Given the description of an element on the screen output the (x, y) to click on. 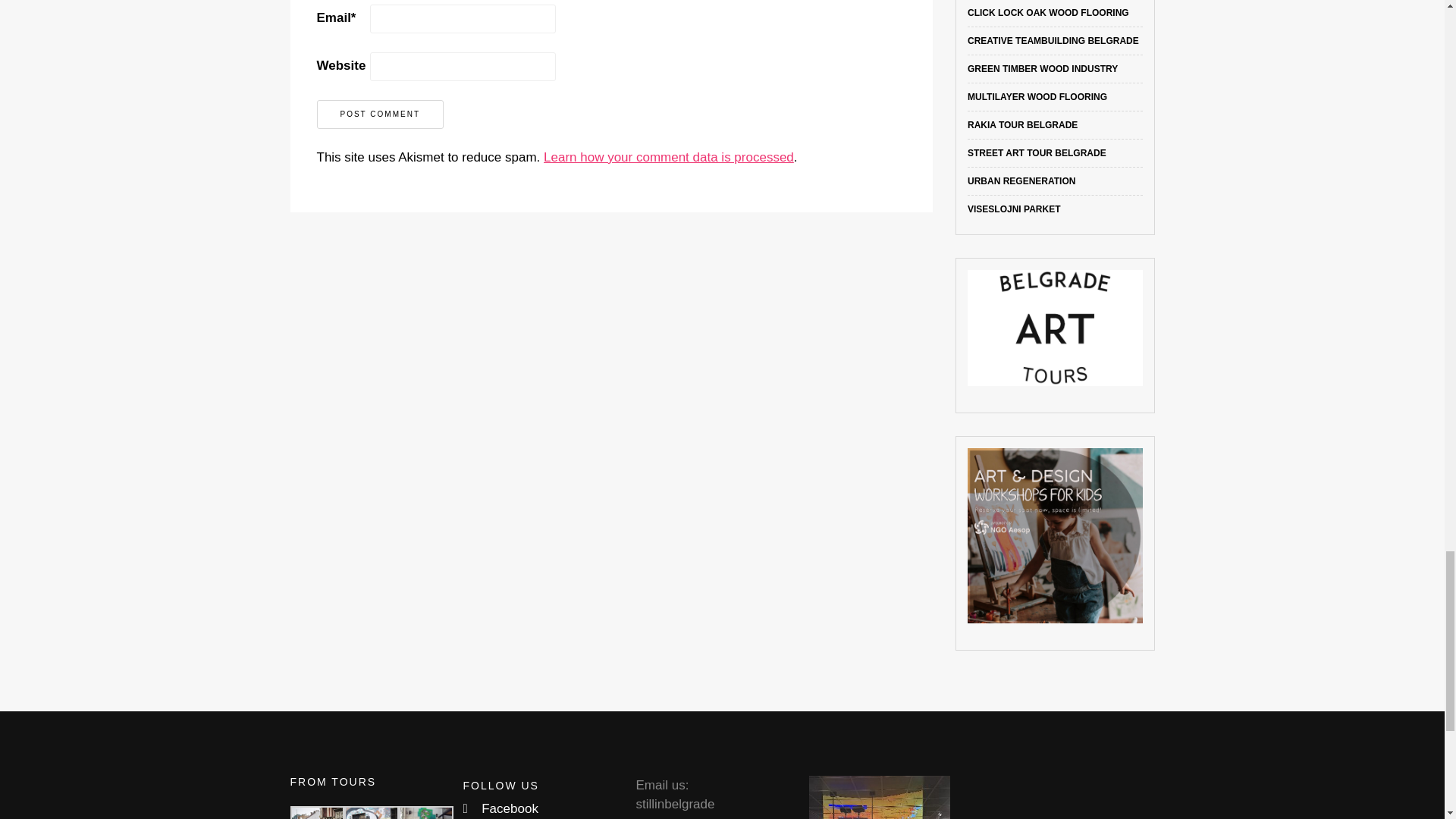
Street Art Tour with Workshop Belgrade  (1037, 153)
Belgrade Rakia Tour  (1022, 124)
Post comment (380, 113)
